Given the description of an element on the screen output the (x, y) to click on. 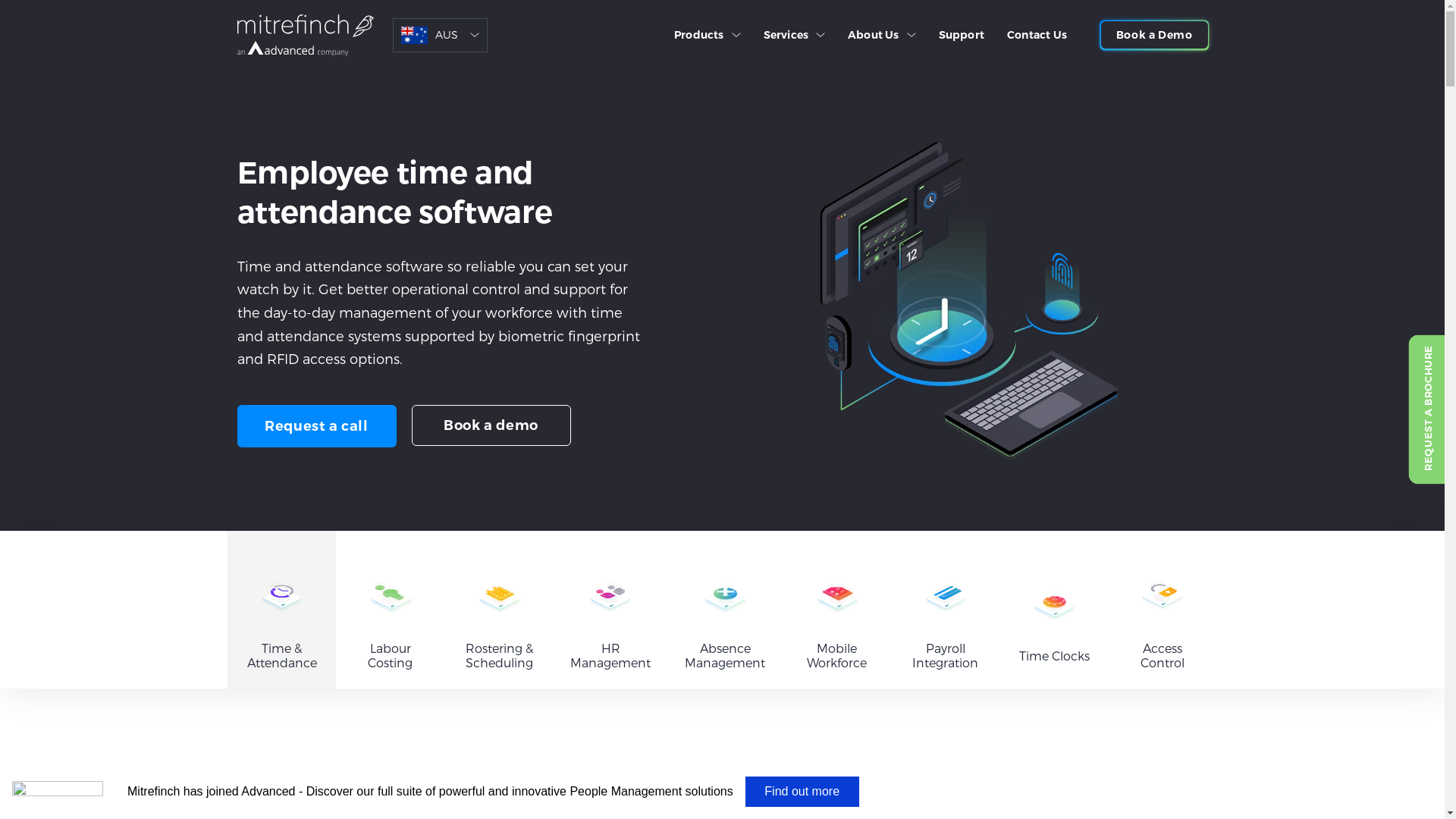
Search Element type: text (1172, 96)
Services Element type: text (794, 35)
Time & Attendance Element type: text (281, 609)
Request a call Element type: text (315, 426)
Time Clocks Element type: text (1053, 609)
Rostering & Scheduling Element type: text (499, 609)
Contact Us Element type: text (1036, 35)
Book a Demo Element type: text (1154, 34)
HR Management Element type: text (610, 609)
Access Control Element type: text (1162, 609)
Absence Management Element type: text (725, 609)
mitrefinch Element type: hover (304, 35)
Payroll Integration Element type: text (945, 609)
Find out more Element type: text (802, 791)
Send Element type: text (581, 453)
Book a demo Element type: text (490, 425)
Send Element type: text (581, 737)
Products Element type: text (707, 35)
Labour Costing Element type: text (389, 609)
Mobile Workforce Element type: text (836, 609)
About Us Element type: text (881, 35)
Support Element type: text (961, 35)
